Given the description of an element on the screen output the (x, y) to click on. 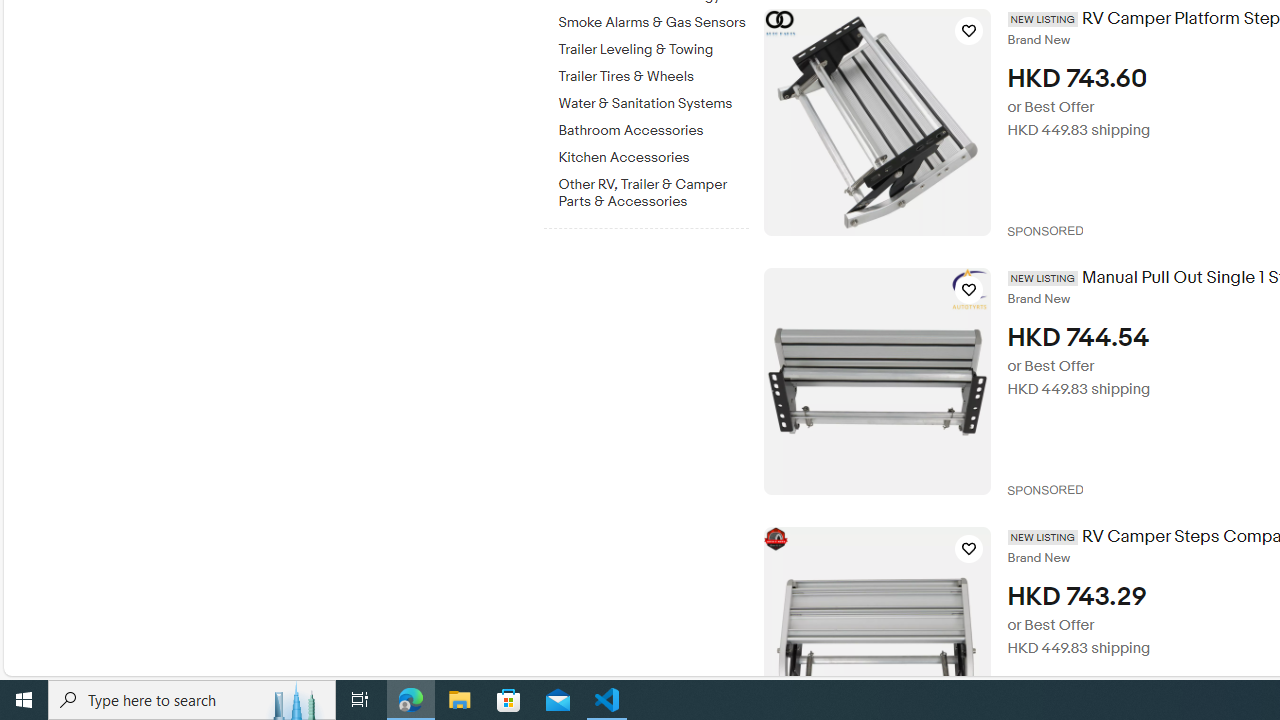
Water & Sanitation Systems (653, 100)
Trailer Tires & Wheels (653, 73)
Bathroom Accessories (653, 131)
Trailer Leveling & Towing (653, 50)
Trailer Tires & Wheels (653, 77)
Smoke Alarms & Gas Sensors (653, 19)
Kitchen Accessories (653, 158)
Other RV, Trailer & Camper Parts & Accessories (653, 193)
Smoke Alarms & Gas Sensors (653, 23)
Trailer Leveling & Towing (653, 46)
Other RV, Trailer & Camper Parts & Accessories (653, 189)
Bathroom Accessories (653, 127)
